Given the description of an element on the screen output the (x, y) to click on. 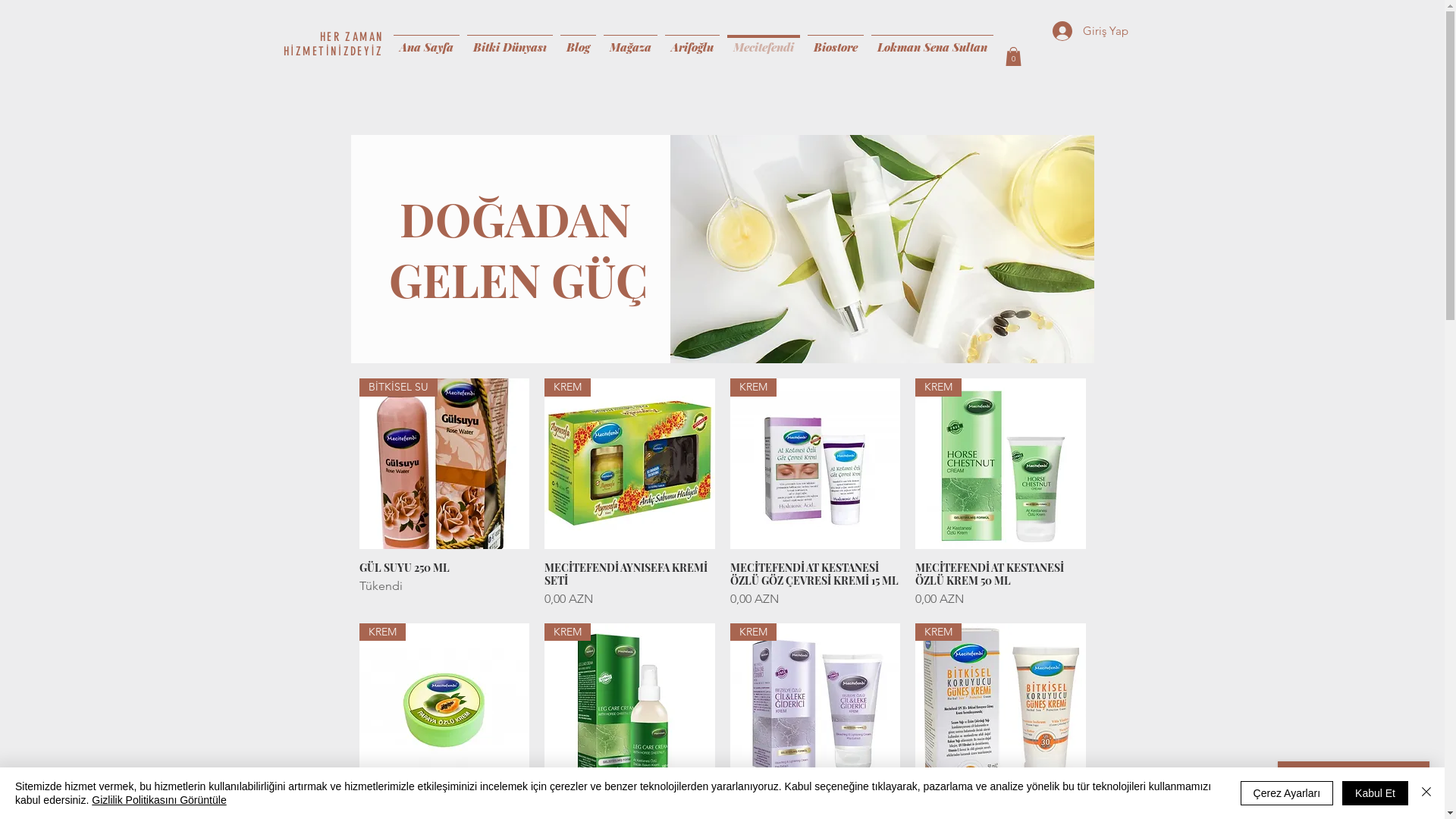
KREM Element type: text (814, 463)
0 Element type: text (1013, 56)
Biostore Element type: text (835, 39)
KREM Element type: text (1000, 463)
Mecitefendi Element type: text (763, 39)
KREM Element type: text (444, 708)
KREM Element type: text (629, 463)
Ana Sayfa Element type: text (426, 39)
KREM Element type: text (629, 708)
Lokman Sena Sultan Element type: text (932, 39)
KREM Element type: text (1000, 708)
KREM Element type: text (814, 708)
Blog Element type: text (577, 39)
Kabul Et Element type: text (1375, 793)
